Given the description of an element on the screen output the (x, y) to click on. 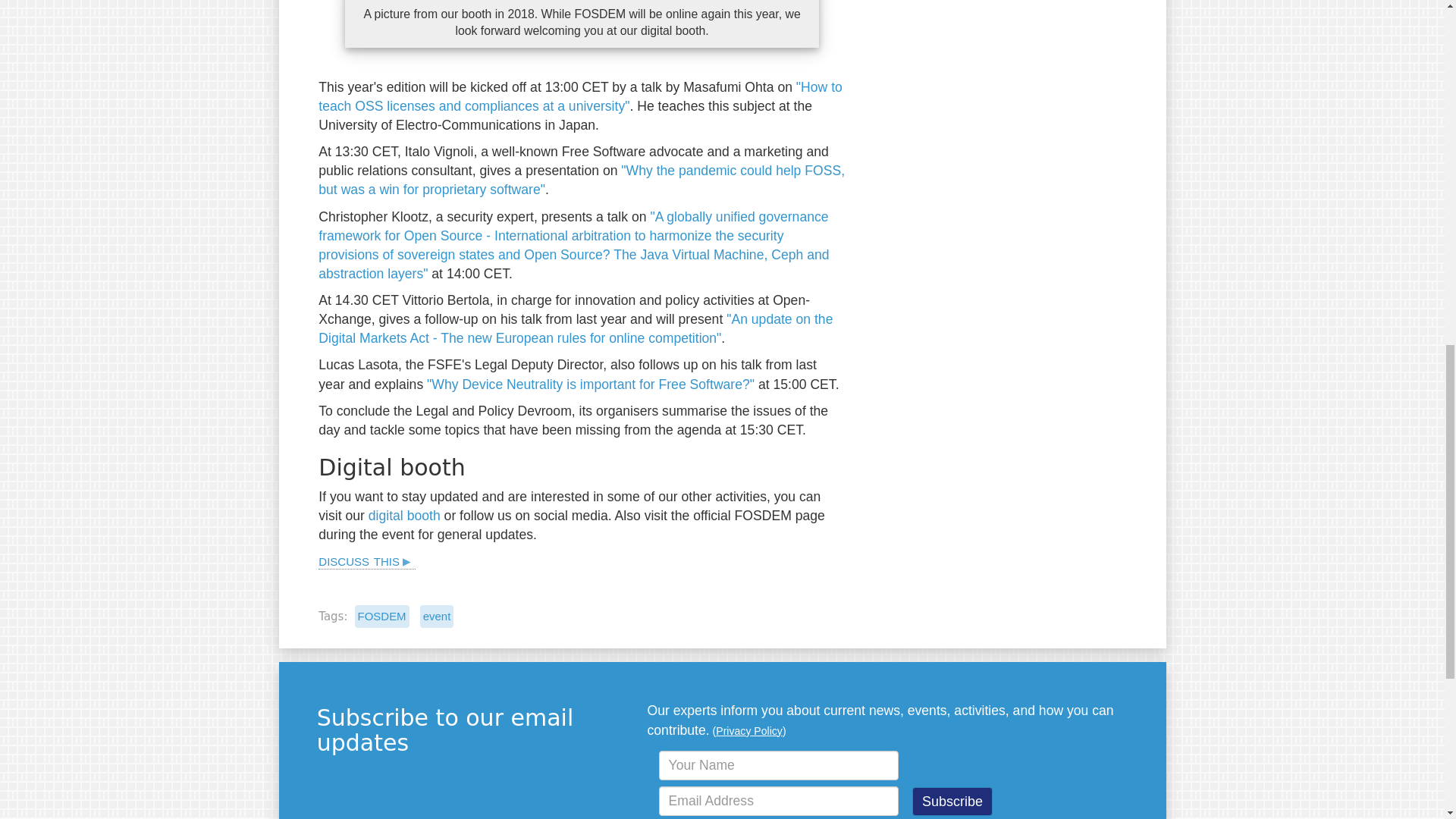
Subscribe (952, 801)
"How to teach OSS licenses and compliances at a university" (580, 96)
event (437, 616)
digital booth (404, 515)
"Why Device Neutrality is important for Free Software?" (590, 383)
Privacy Policy (749, 730)
discuss this (366, 560)
